Given the description of an element on the screen output the (x, y) to click on. 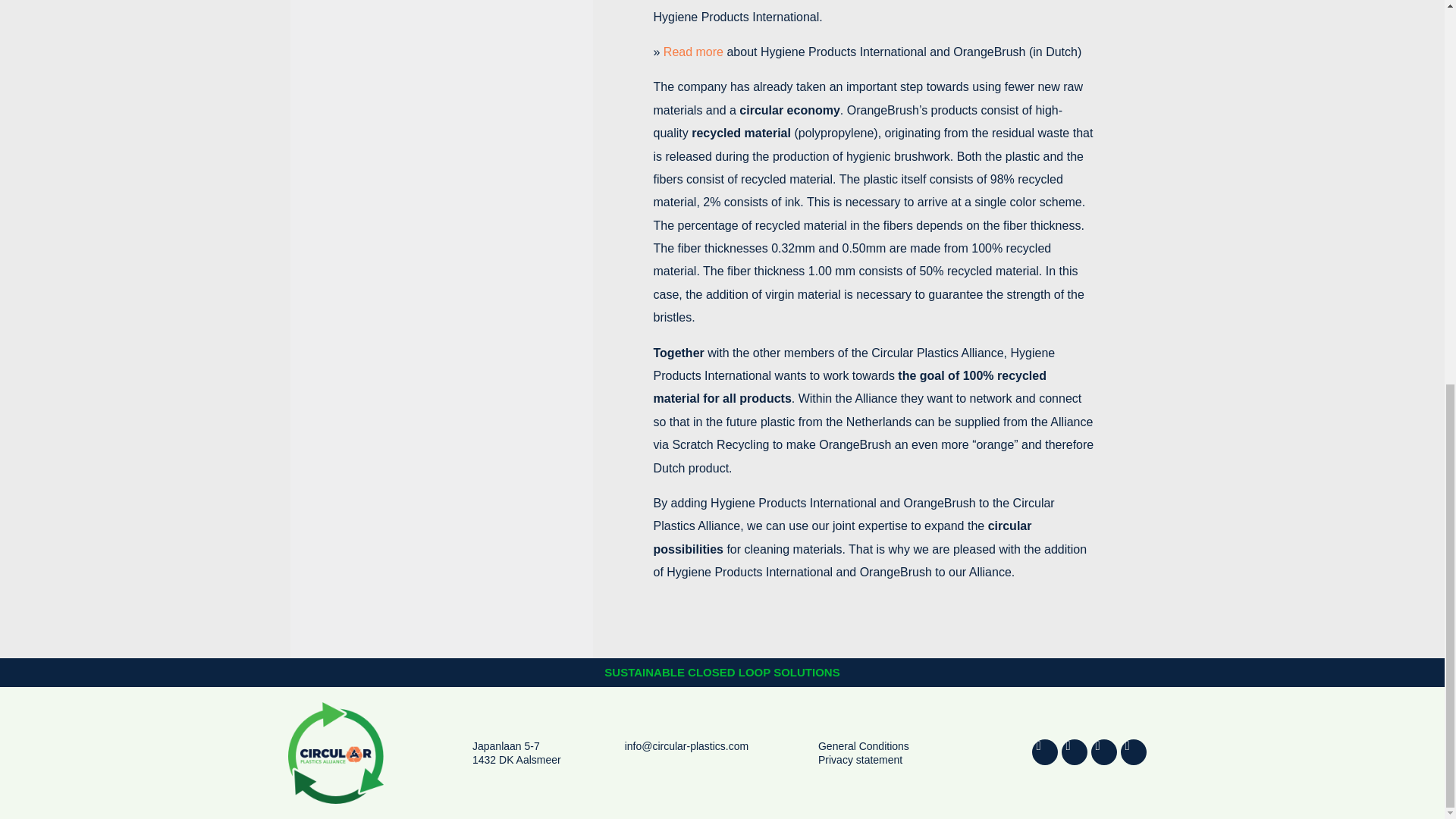
1432 DK Aalsmeer (515, 759)
Privacy statement (860, 759)
Read more (693, 51)
General Conditions (863, 746)
Japanlaan 5-7 (505, 746)
